Given the description of an element on the screen output the (x, y) to click on. 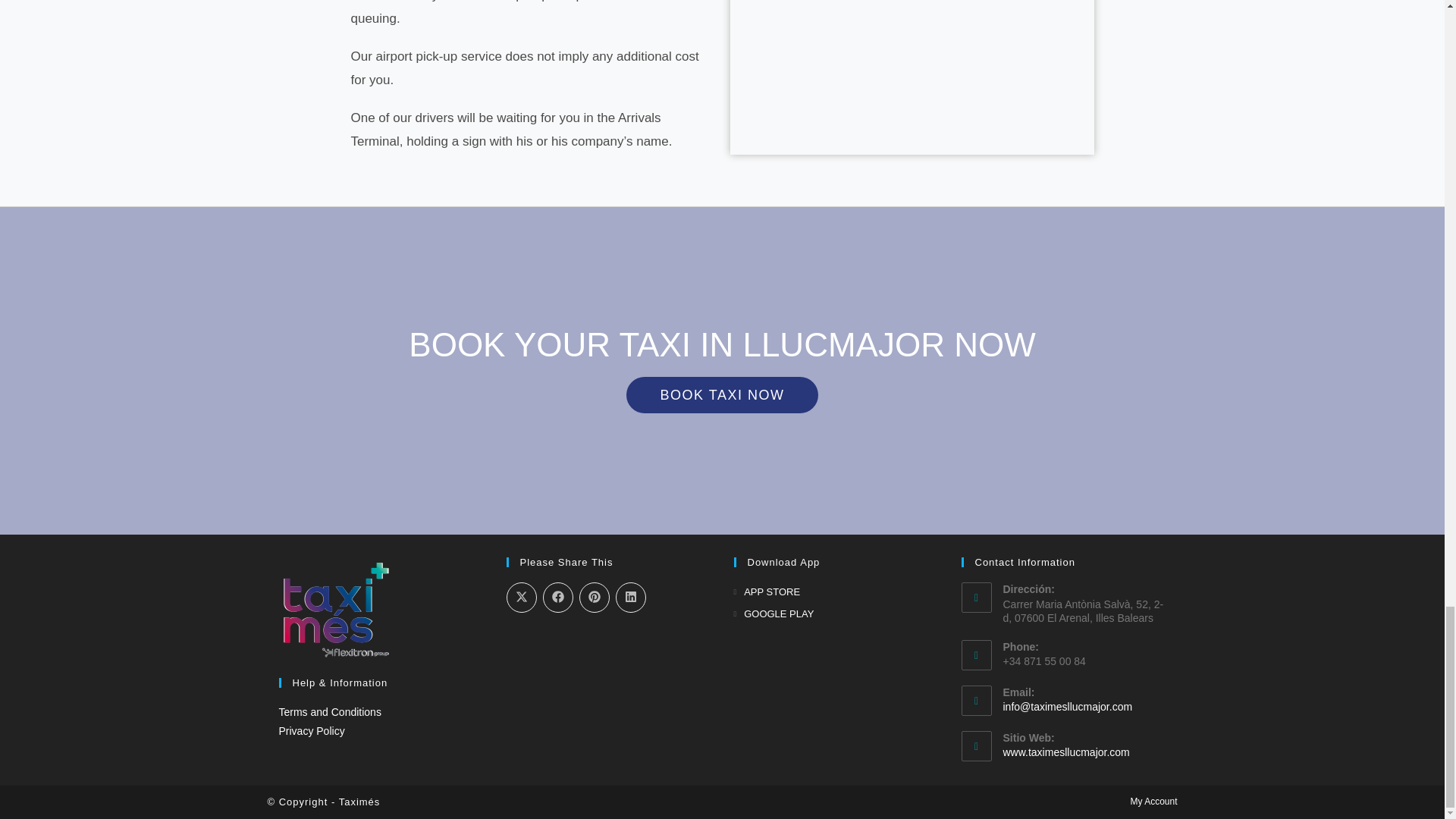
Share on X (521, 597)
Logo Taxi Llucmajor (336, 609)
Share on Pinterest (594, 597)
BOOK TAXI NOW (722, 394)
Terms and Conditions (330, 711)
Share on LinkedIn (630, 597)
Share on Facebook (558, 597)
